Given the description of an element on the screen output the (x, y) to click on. 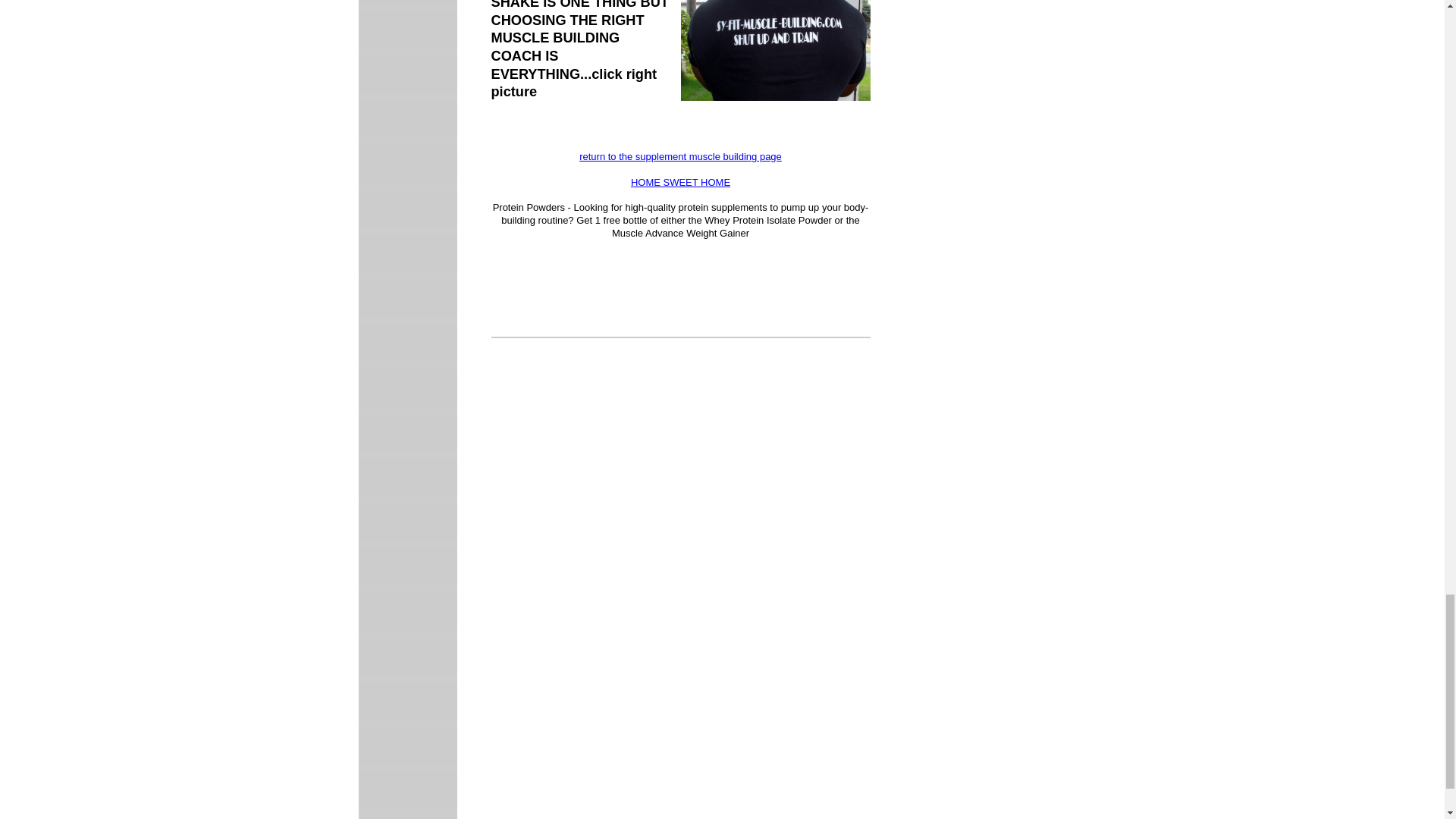
Advertisement (618, 702)
HOME SWEET HOME (680, 182)
return to the supplement muscle building page (680, 156)
